Given the description of an element on the screen output the (x, y) to click on. 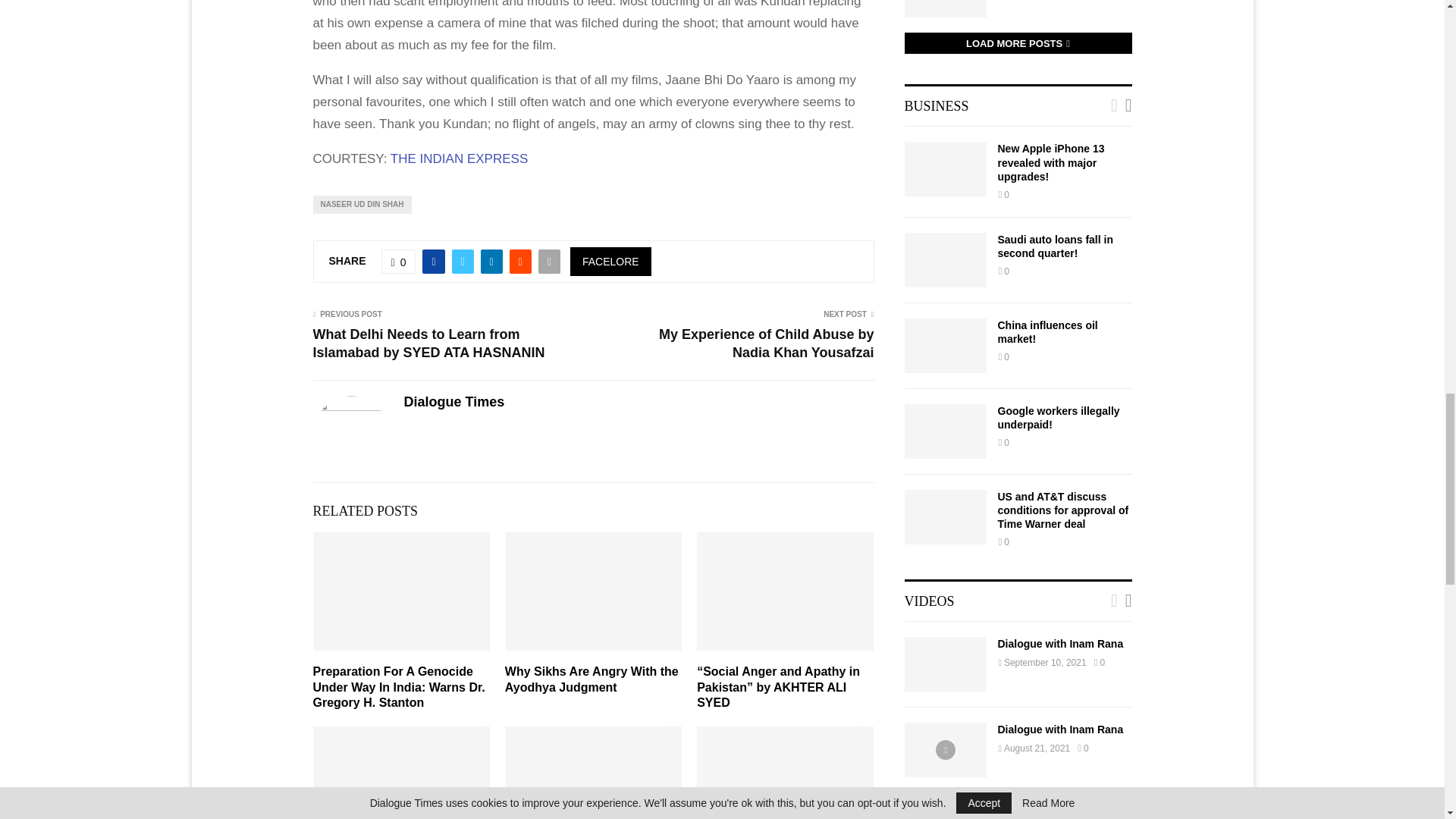
Like (398, 261)
